Given the description of an element on the screen output the (x, y) to click on. 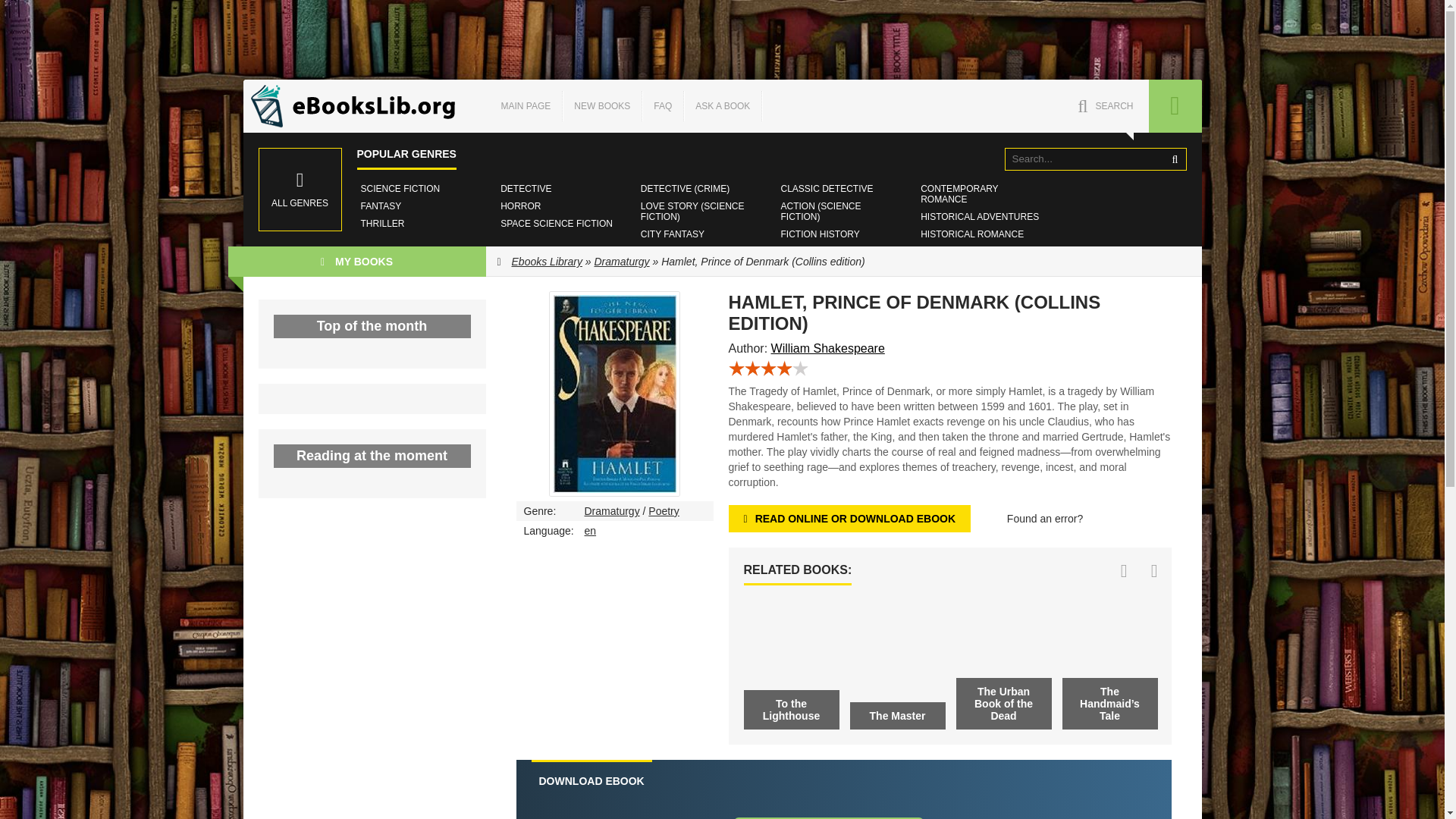
Dramaturgy (621, 261)
1 (736, 367)
Good (784, 367)
HORROR (520, 206)
Excellent (800, 367)
2 (752, 367)
Ebooks Library (547, 261)
SCIENCE FICTION (400, 188)
Go (1174, 159)
SPACE SCIENCE FICTION (555, 223)
5 (800, 367)
Found an error? (1045, 518)
CLASSIC DETECTIVE (826, 188)
FAQ (662, 105)
CONTEMPORARY ROMANCE (981, 193)
